Given the description of an element on the screen output the (x, y) to click on. 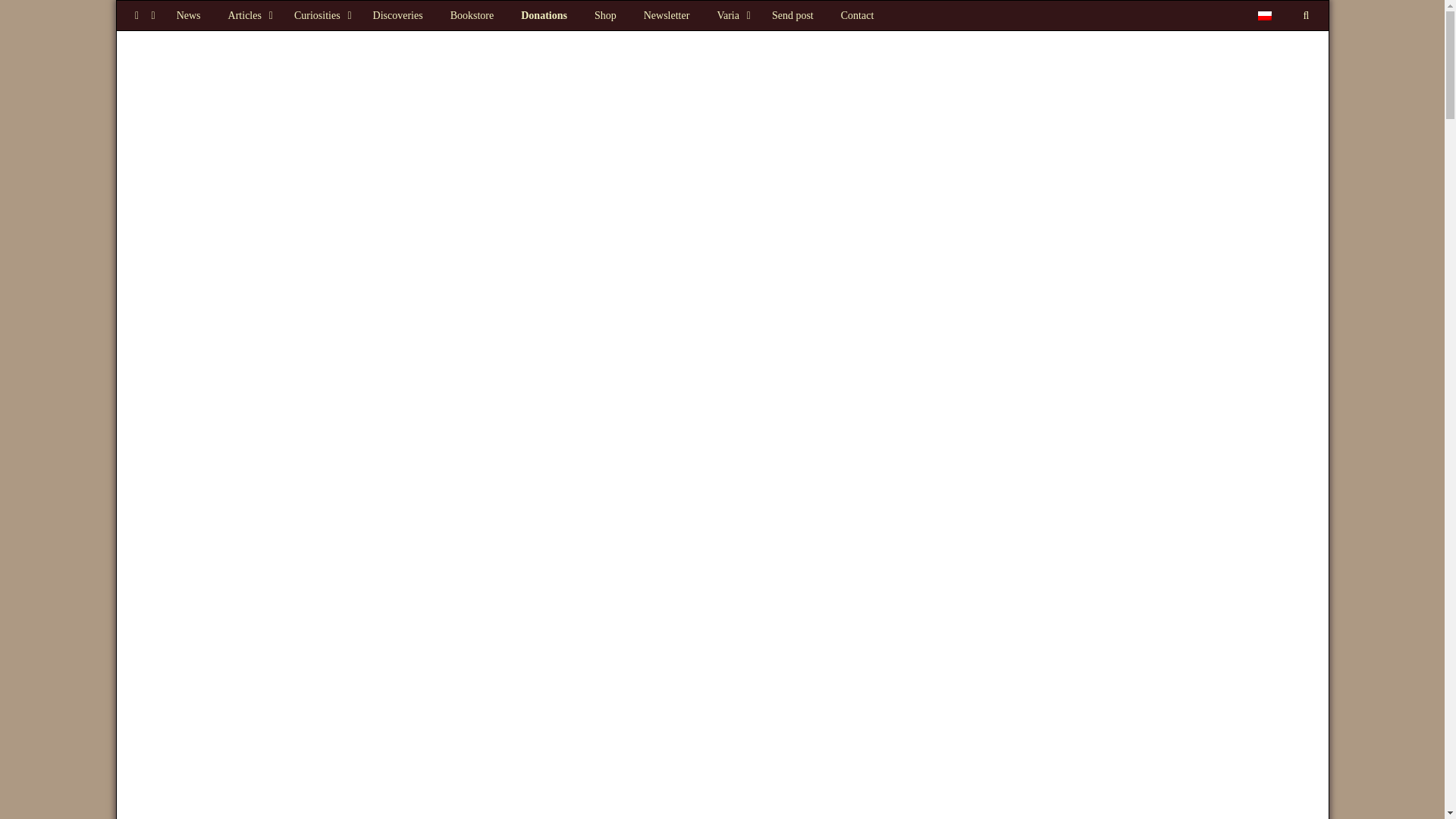
Discoveries about ancient Rome (397, 15)
Main page (188, 15)
Other matters related to website (730, 15)
Donations (543, 15)
Curiosities about ancient Rome (320, 15)
Roman shop (605, 15)
Articles about ancient Rome (247, 15)
